Given the description of an element on the screen output the (x, y) to click on. 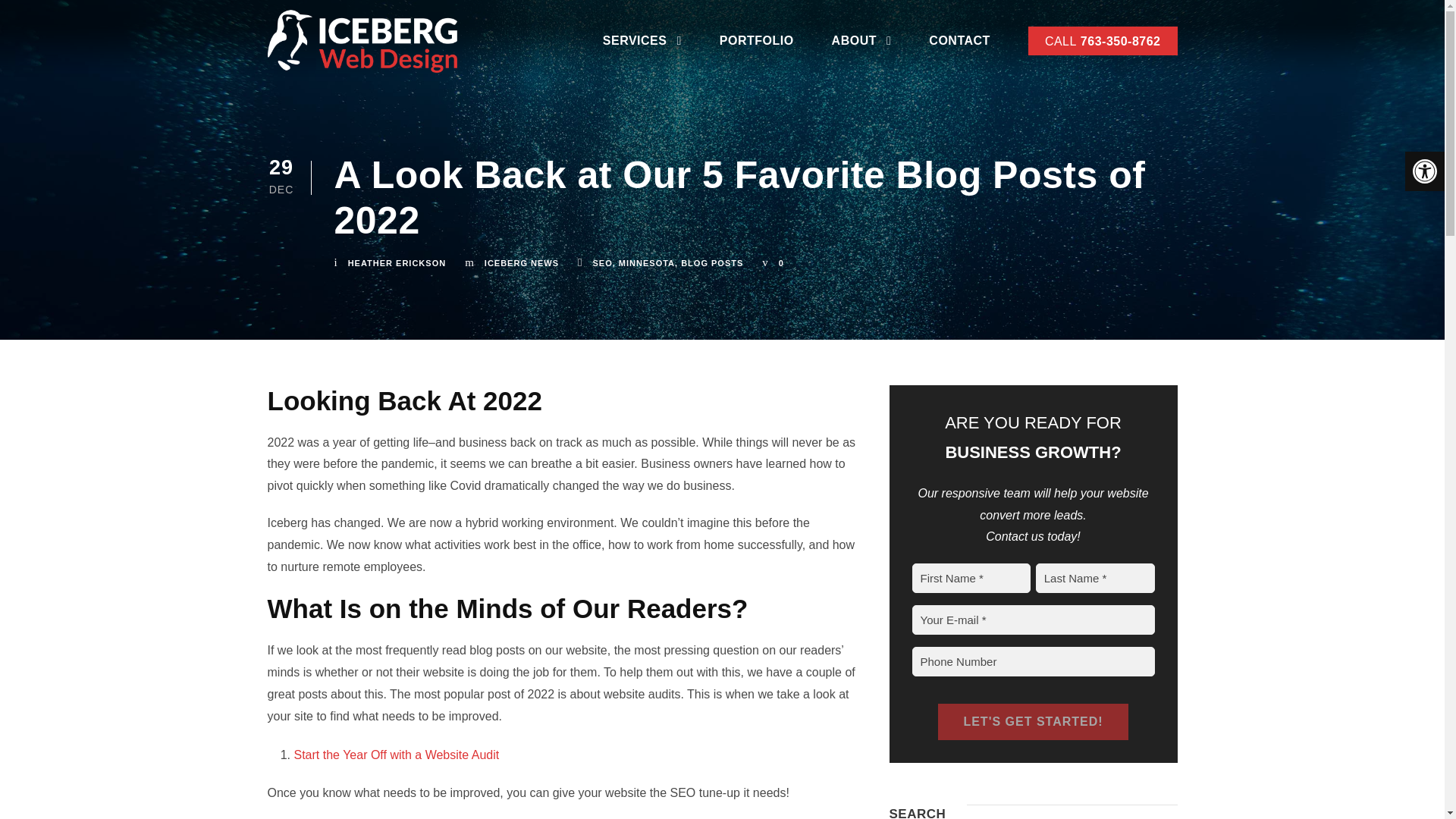
ABOUT (861, 44)
Accessibility Tools (1424, 170)
CONTACT (959, 44)
CALL 763-350-8762 (1102, 40)
Let's Get Started! (1031, 721)
ICEBERG NEWS (521, 262)
SERVICES (641, 44)
Icebergwebdesign (361, 40)
Posts by Heather Erickson (396, 262)
PORTFOLIO (756, 44)
HEATHER ERICKSON (396, 262)
